Given the description of an element on the screen output the (x, y) to click on. 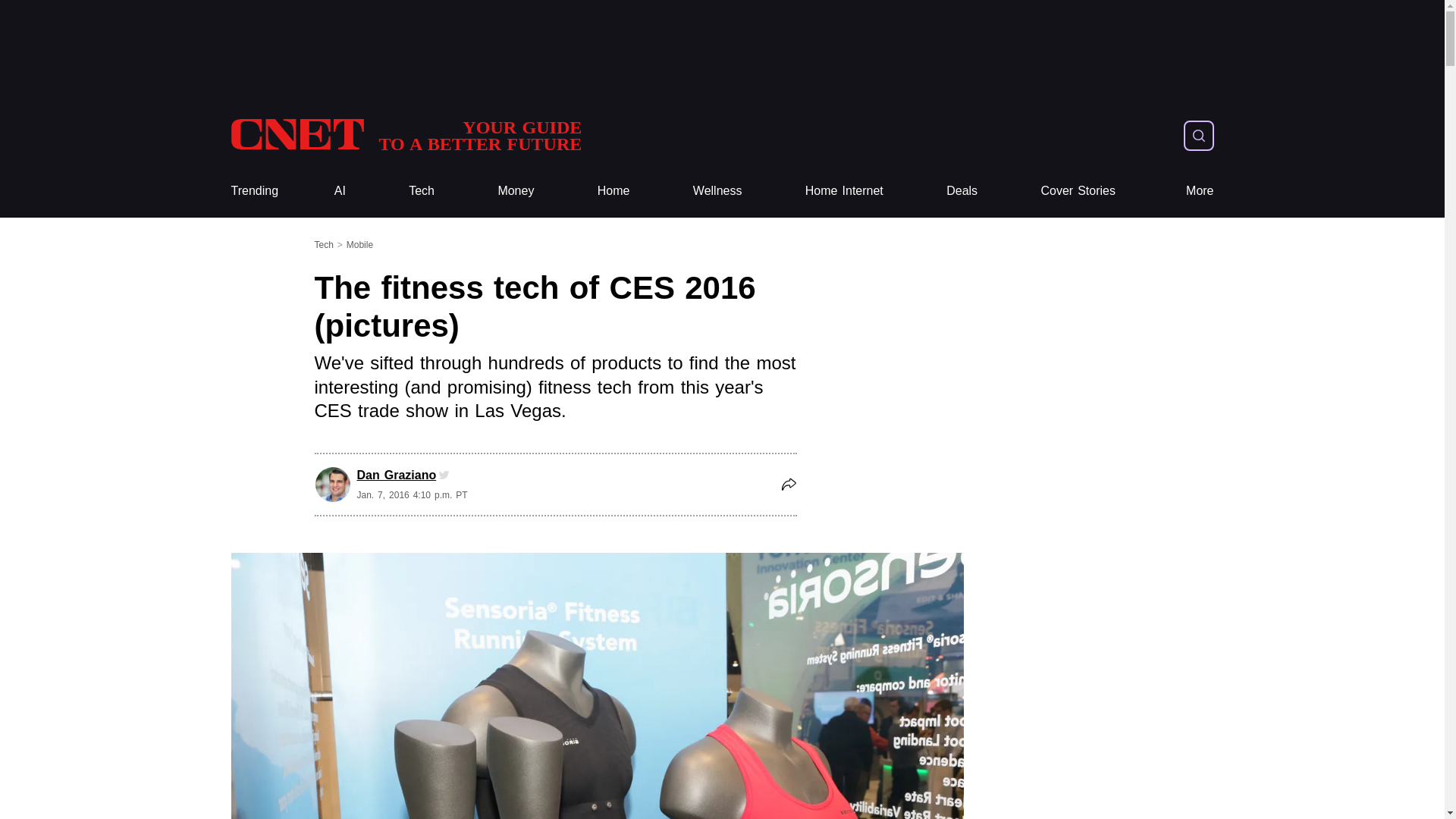
Home Internet (844, 190)
CNET (405, 135)
Deals (405, 135)
Money (961, 190)
Home Internet (515, 190)
Home (844, 190)
Cover Stories (613, 190)
More (1078, 190)
Tech (1199, 190)
